Given the description of an element on the screen output the (x, y) to click on. 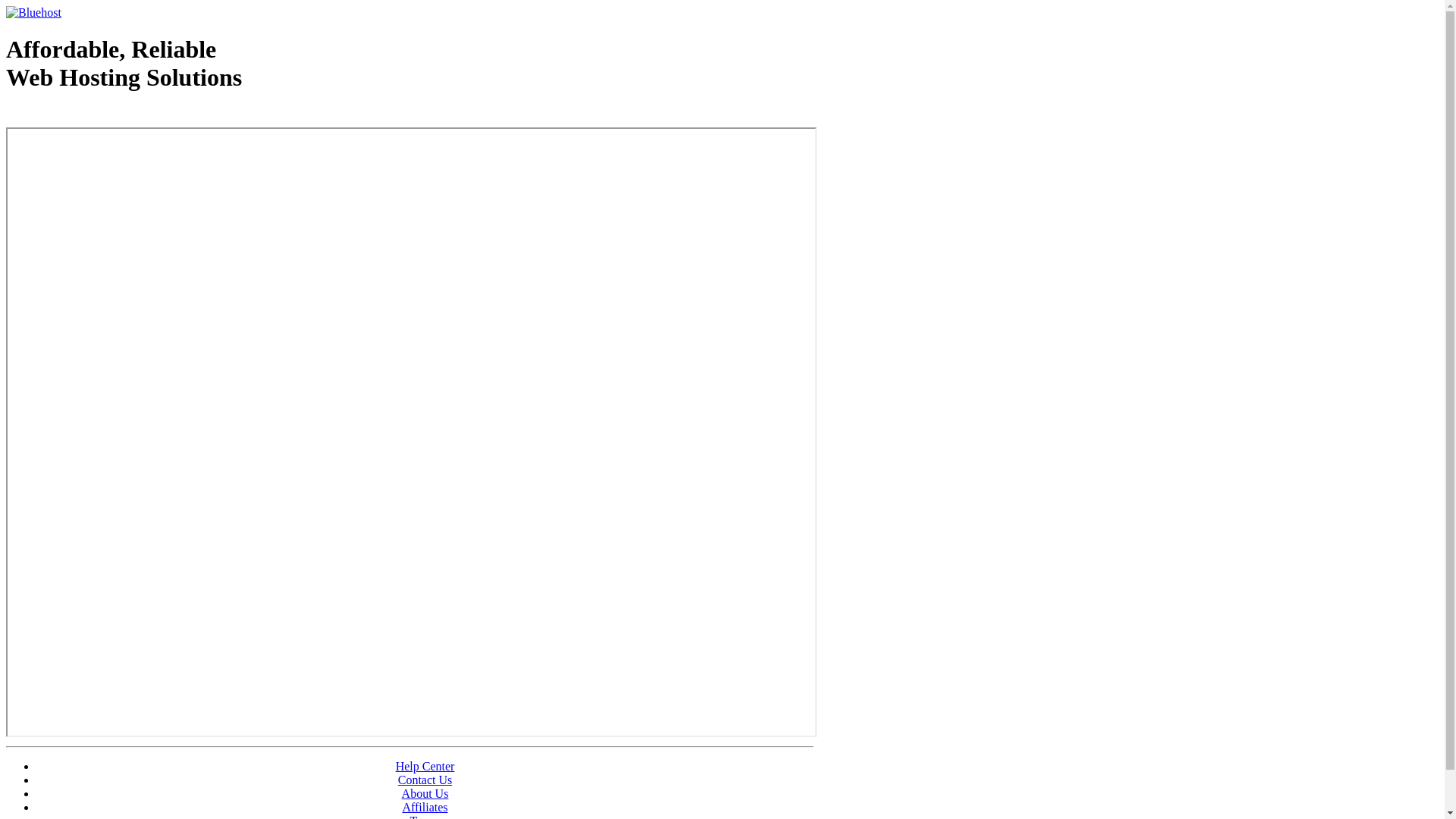
Help Center Element type: text (425, 765)
Web Hosting - courtesy of www.bluehost.com Element type: text (94, 115)
About Us Element type: text (424, 793)
Affiliates Element type: text (424, 806)
Contact Us Element type: text (425, 779)
